Given the description of an element on the screen output the (x, y) to click on. 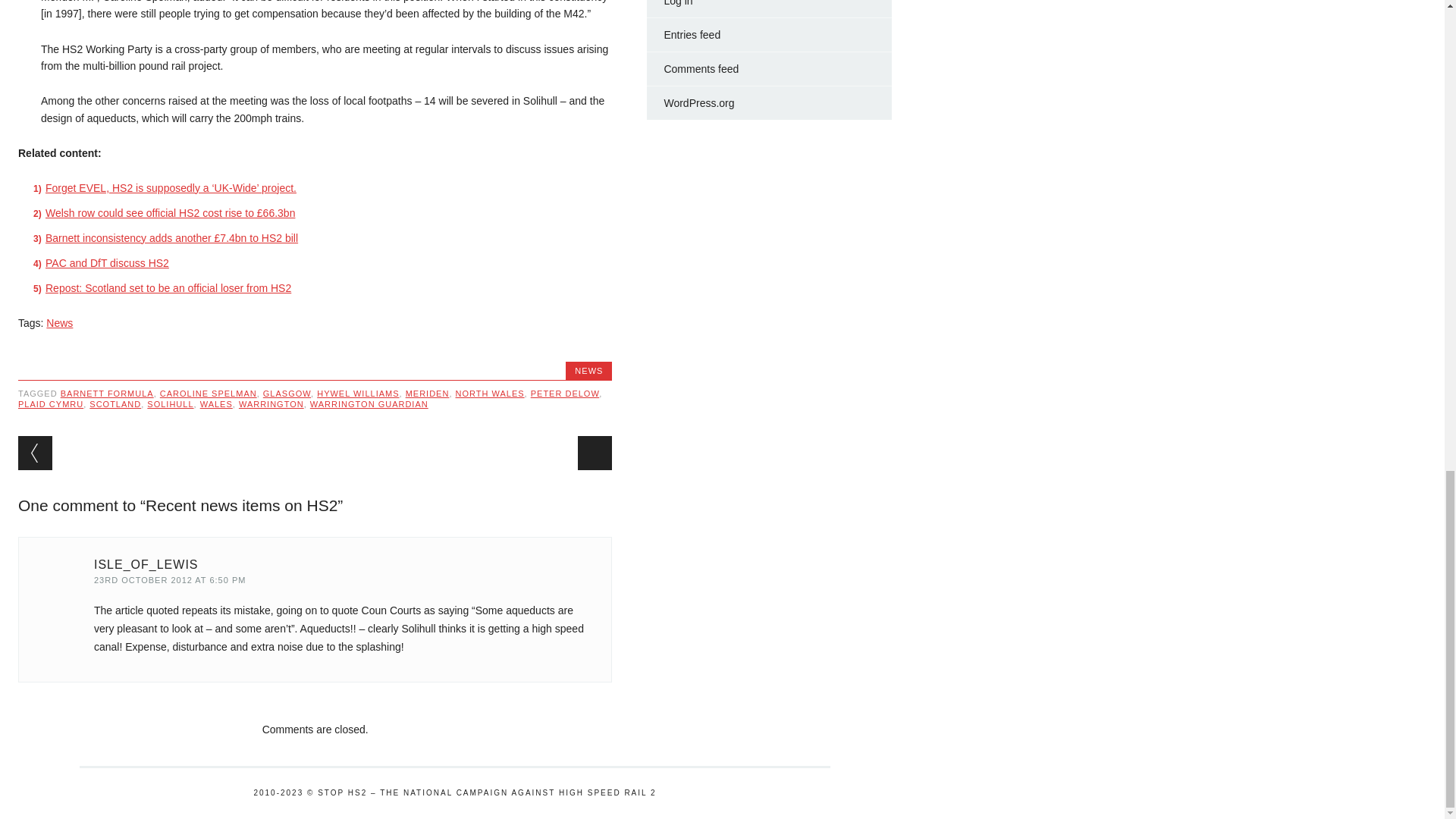
NORTH WALES (489, 393)
SCOTLAND (114, 403)
PLAID CYMRU (49, 403)
BARNETT FORMULA (107, 393)
Repost: Scotland set to be an official loser from HS2 (168, 287)
SOLIHULL (170, 403)
Permanent link to PAC and DfT discuss HS2 (106, 263)
GLASGOW (287, 393)
News (59, 322)
News (59, 322)
NEWS (588, 370)
PAC and DfT discuss HS2 (106, 263)
CAROLINE SPELMAN (208, 393)
HYWEL WILLIAMS (357, 393)
WALES (216, 403)
